Given the description of an element on the screen output the (x, y) to click on. 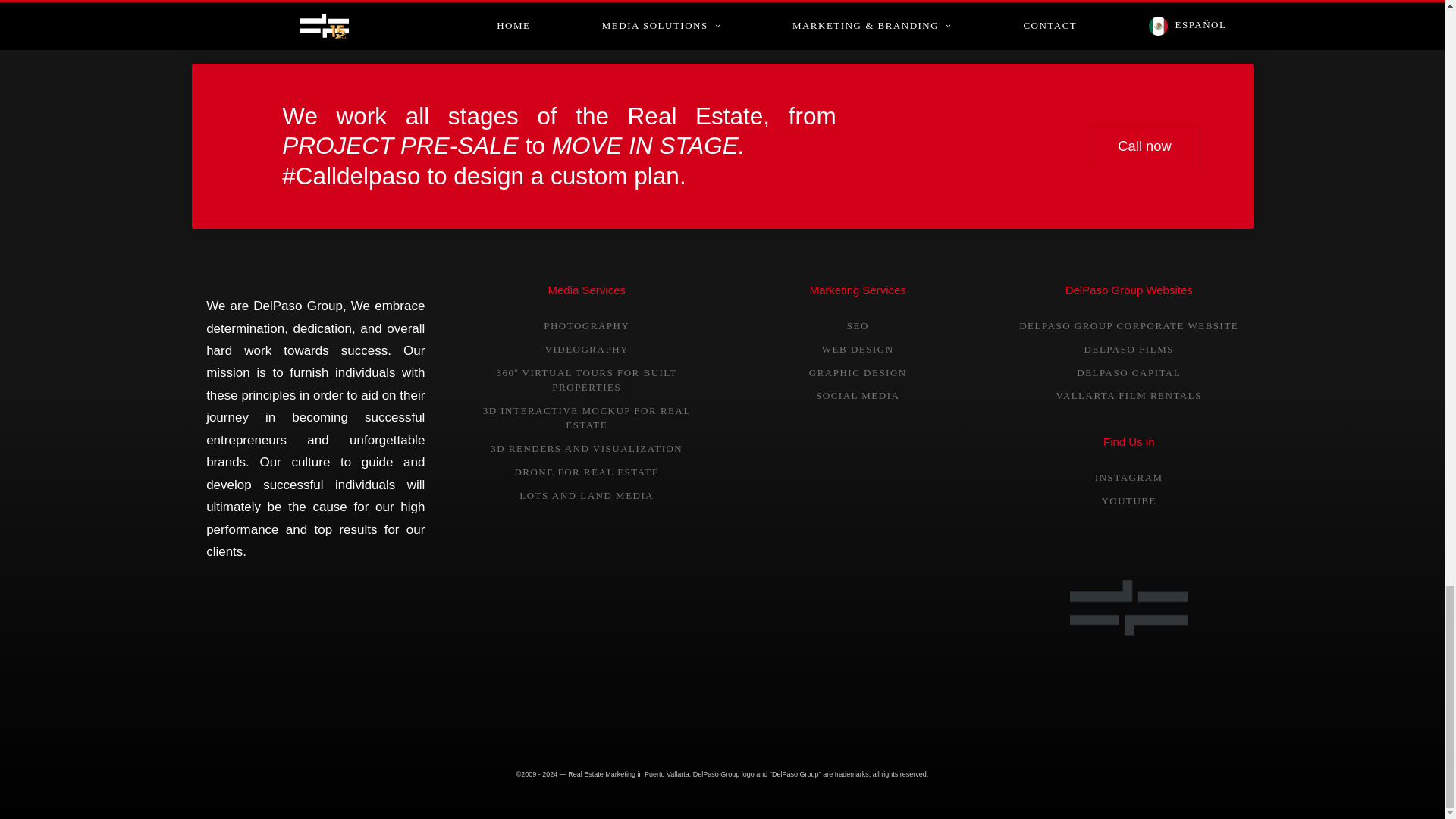
PHOTOGRAPHY (585, 325)
VIDEOGRAPHY (586, 348)
3D RENDERS AND VISUALIZATION (586, 448)
3D INTERACTIVE MOCKUP FOR REAL ESTATE (586, 417)
How to Improve Your Spanish Conversation Skills (589, 5)
Call now (1144, 146)
